Given the description of an element on the screen output the (x, y) to click on. 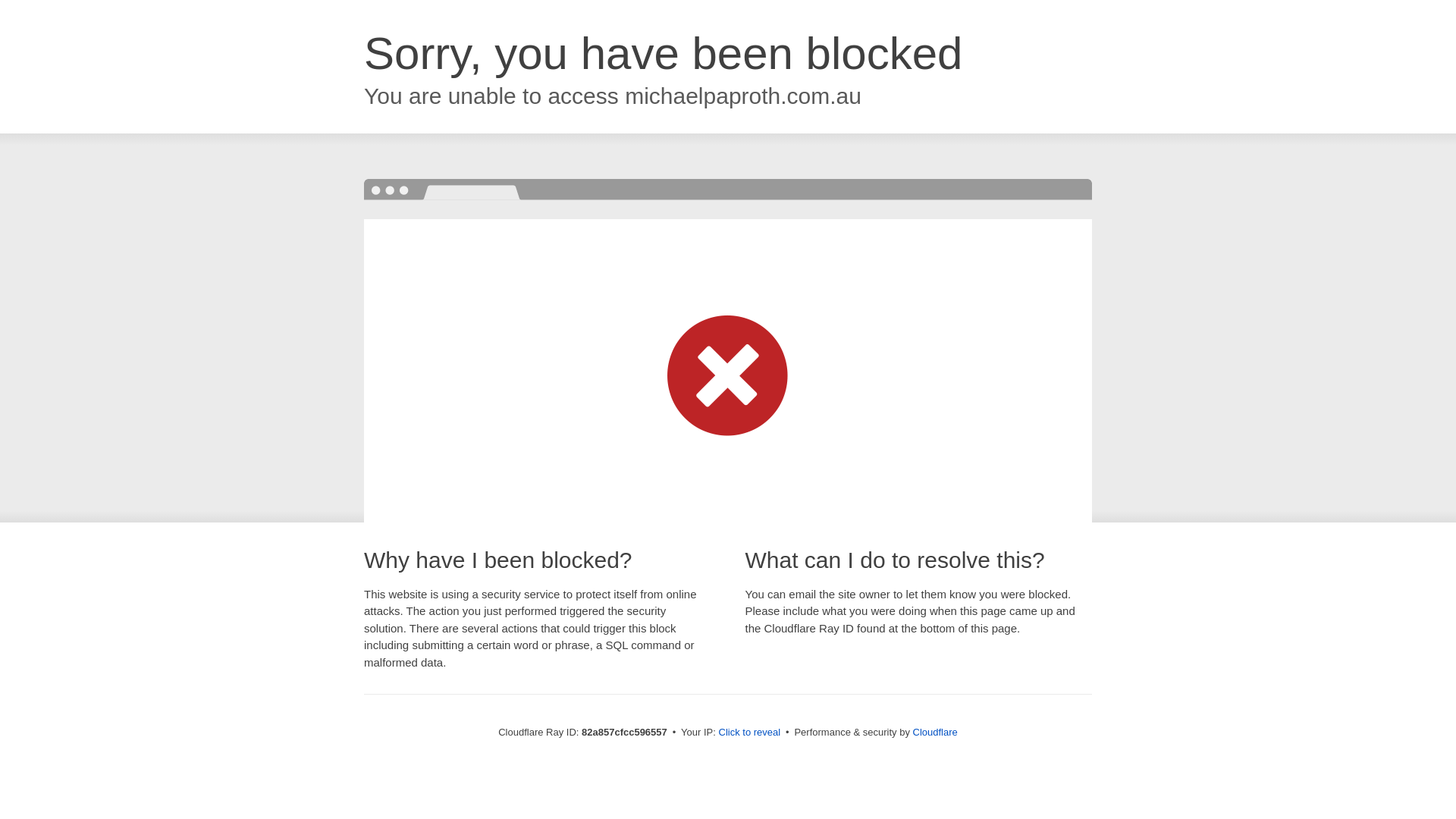
Click to reveal Element type: text (749, 732)
Cloudflare Element type: text (935, 731)
